Given the description of an element on the screen output the (x, y) to click on. 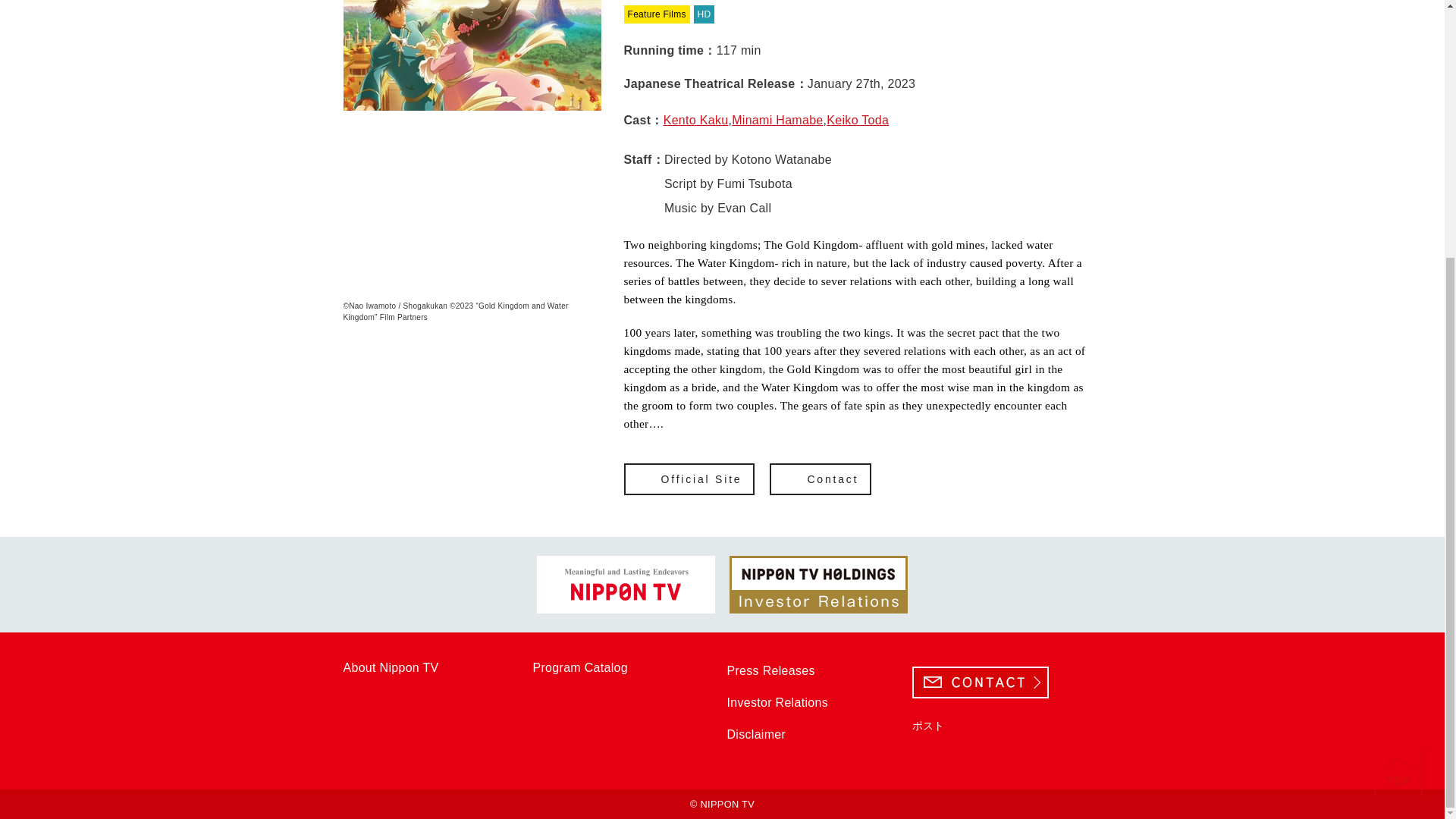
Contact (820, 479)
Keiko Toda (857, 119)
Press Releases (775, 671)
Minami Hamabe (777, 119)
Disclaimer (762, 734)
Kento Kaku (696, 119)
Official Site (688, 479)
Investor Relations (782, 702)
